Given the description of an element on the screen output the (x, y) to click on. 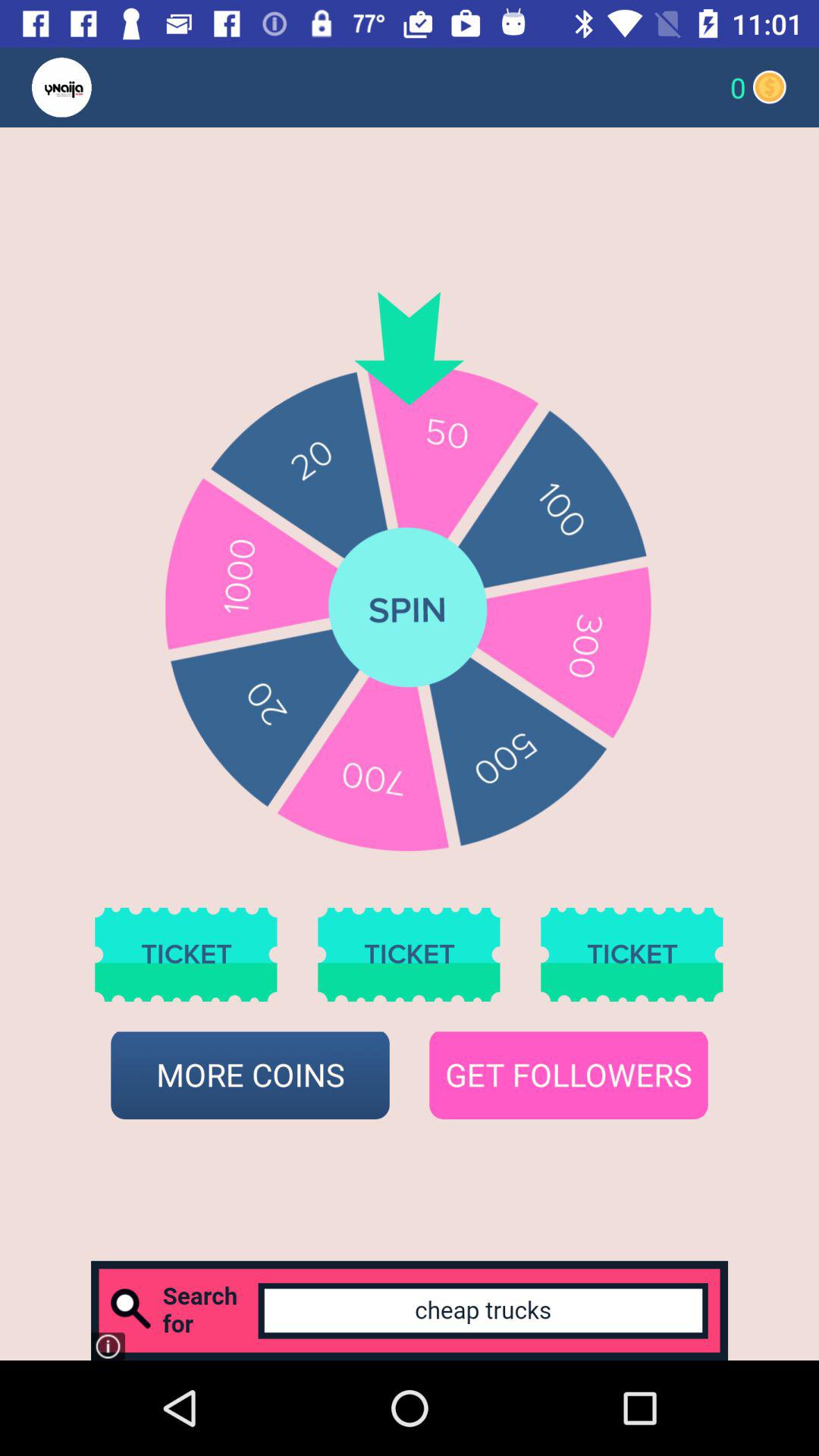
tap icon at the top left corner (91, 87)
